Given the description of an element on the screen output the (x, y) to click on. 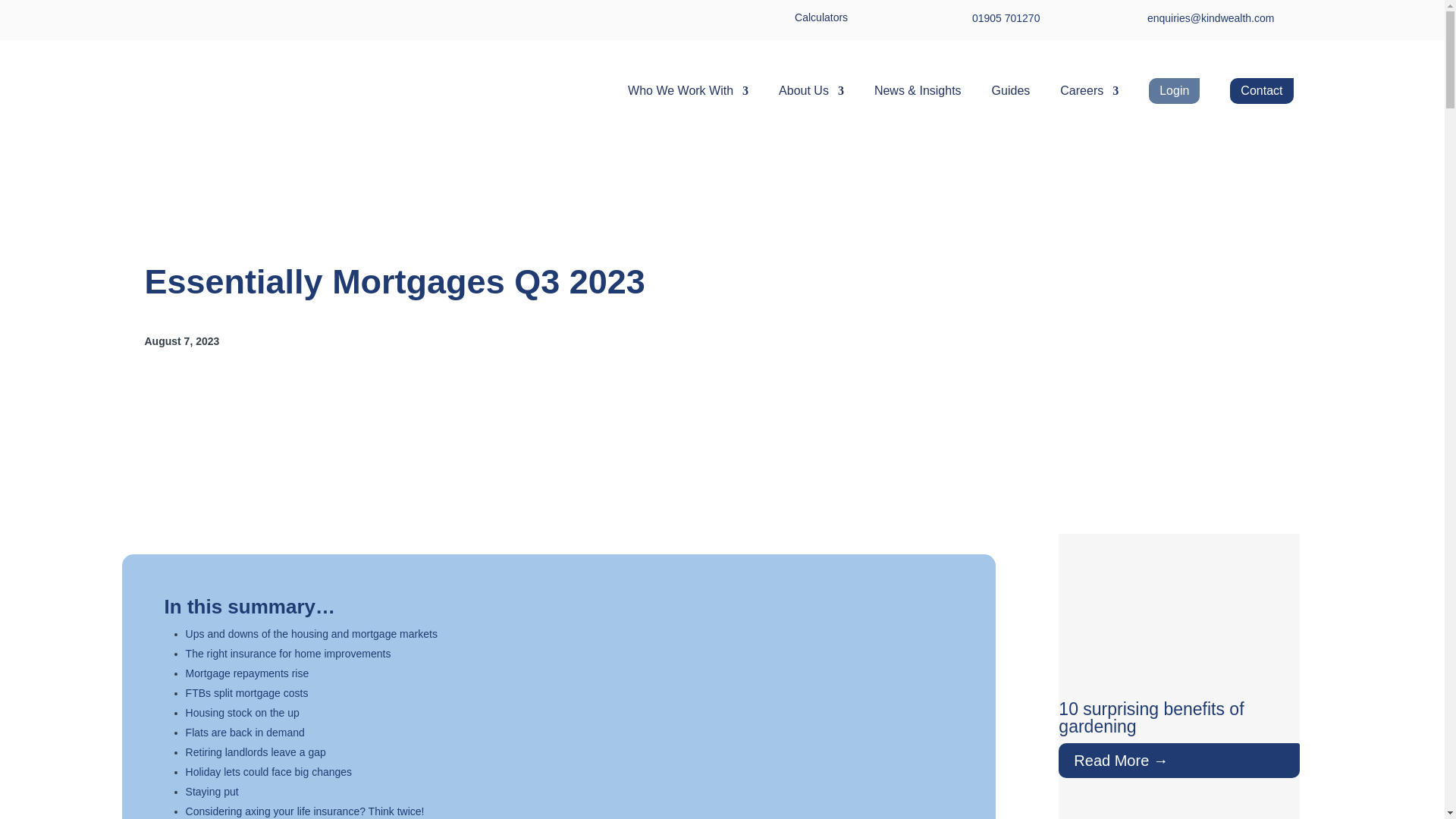
FTBs split mortgage costs (247, 693)
01905 701270 (1006, 18)
Flats are back in demand (245, 732)
The right insurance for home improvements (288, 653)
Ups and downs of the housing and mortgage markets (312, 633)
Mortgage repayments rise (247, 673)
Contact (1261, 90)
Who We Work With (687, 90)
Login (1173, 90)
Housing stock on the up (242, 712)
Retiring landlords leave a gap (256, 752)
